Given the description of an element on the screen output the (x, y) to click on. 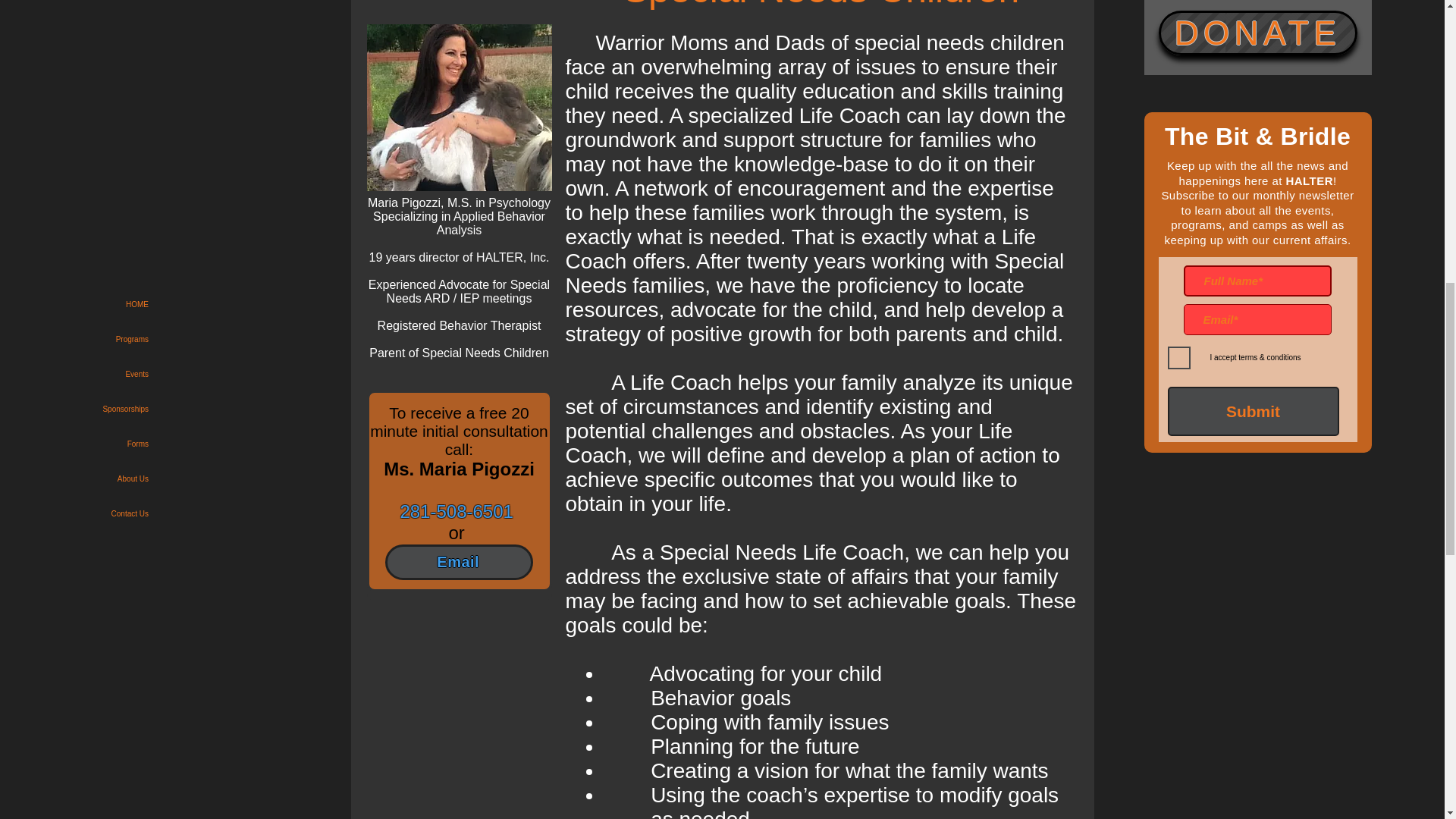
DONATE (1257, 32)
Email (458, 561)
Submit (1253, 410)
